Given the description of an element on the screen output the (x, y) to click on. 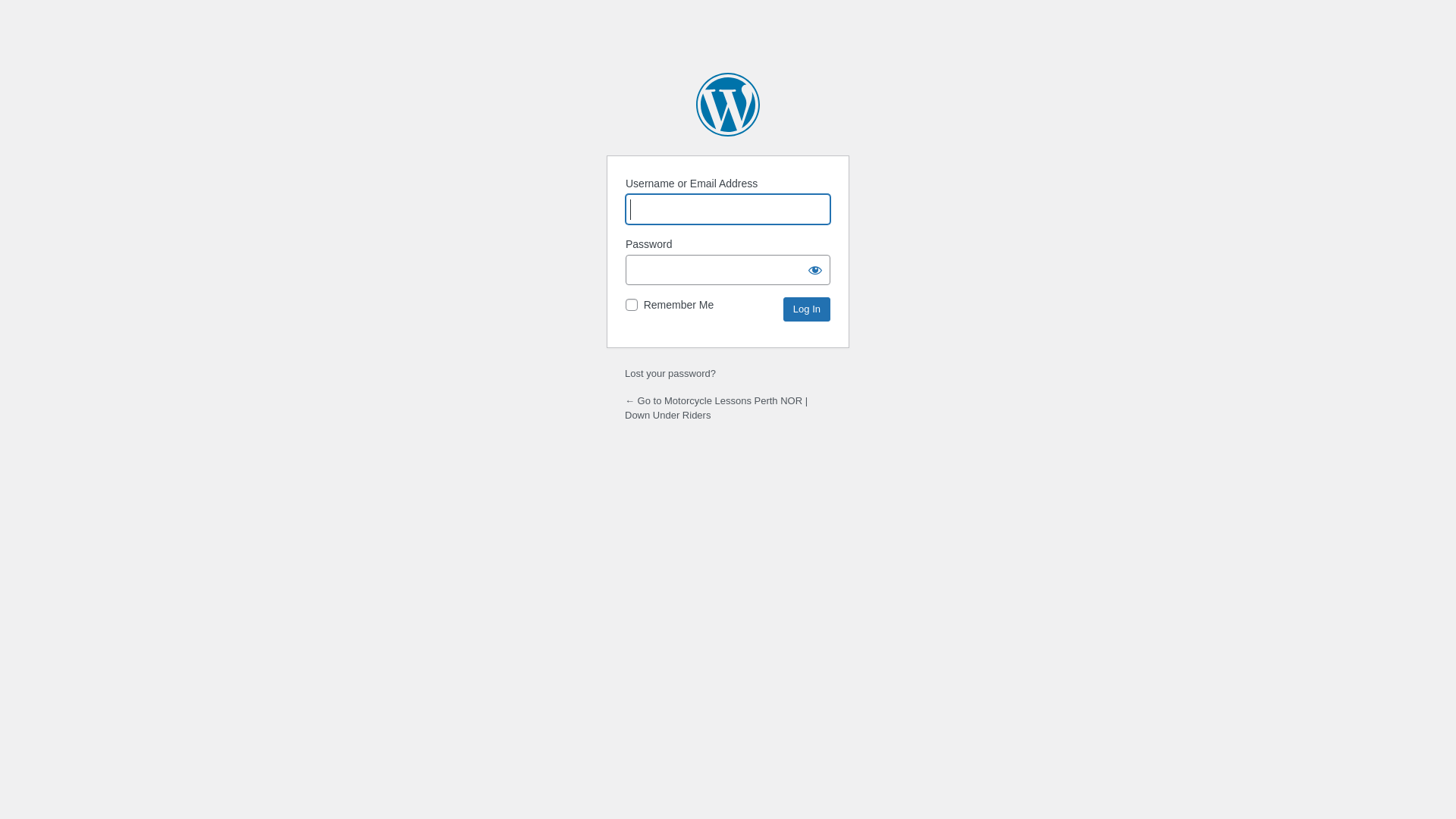
Motorcycle Lessons Perth NOR | Down Under Riders Element type: text (727, 104)
Log In Element type: text (806, 309)
Lost your password? Element type: text (669, 373)
